Given the description of an element on the screen output the (x, y) to click on. 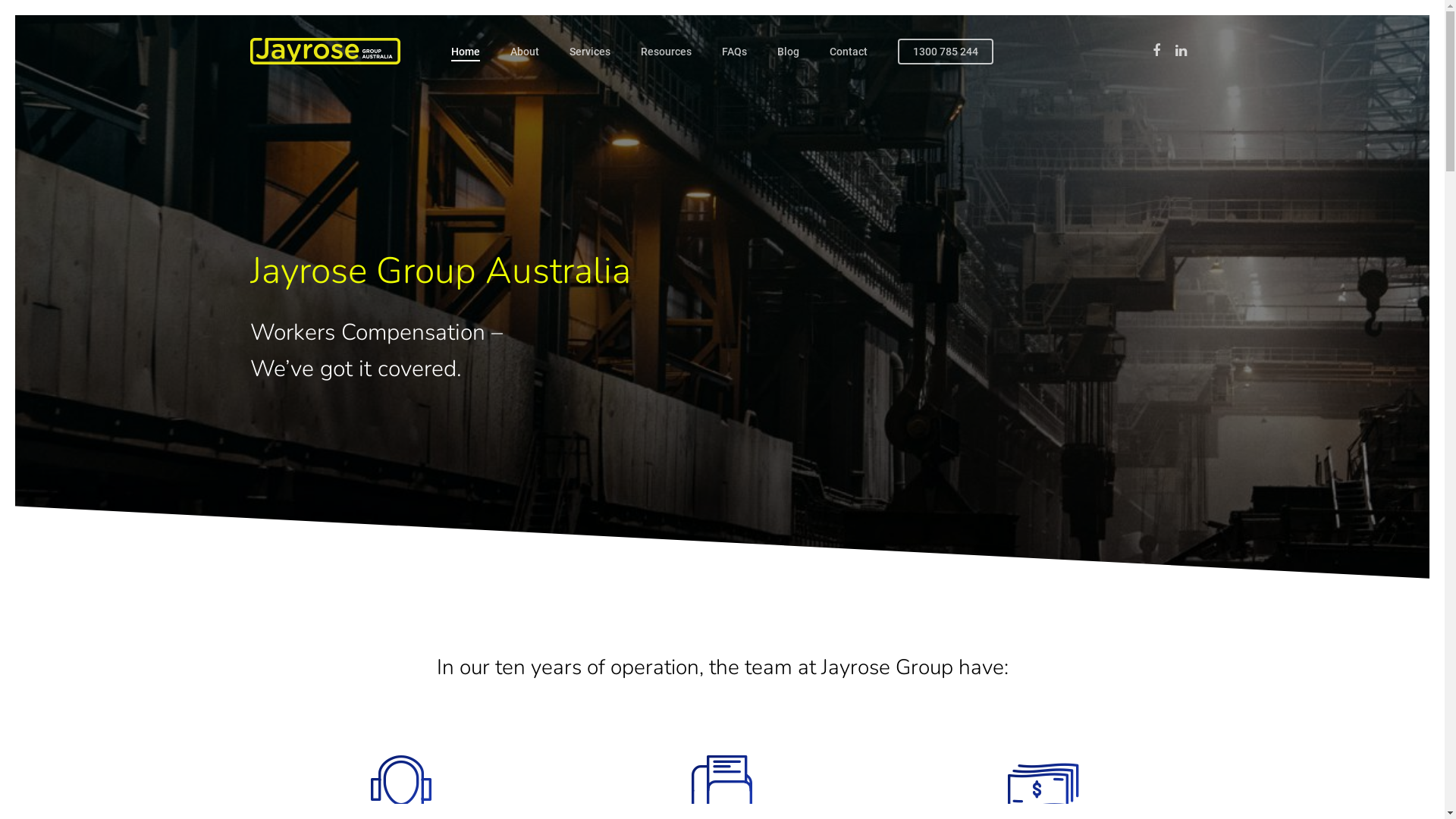
Services Element type: text (589, 51)
Resources Element type: text (665, 51)
Blog Element type: text (788, 51)
Home Element type: text (465, 51)
FAQs Element type: text (733, 51)
About Element type: text (524, 51)
1300 785 244 Element type: text (945, 51)
Contact Element type: text (848, 51)
